Given the description of an element on the screen output the (x, y) to click on. 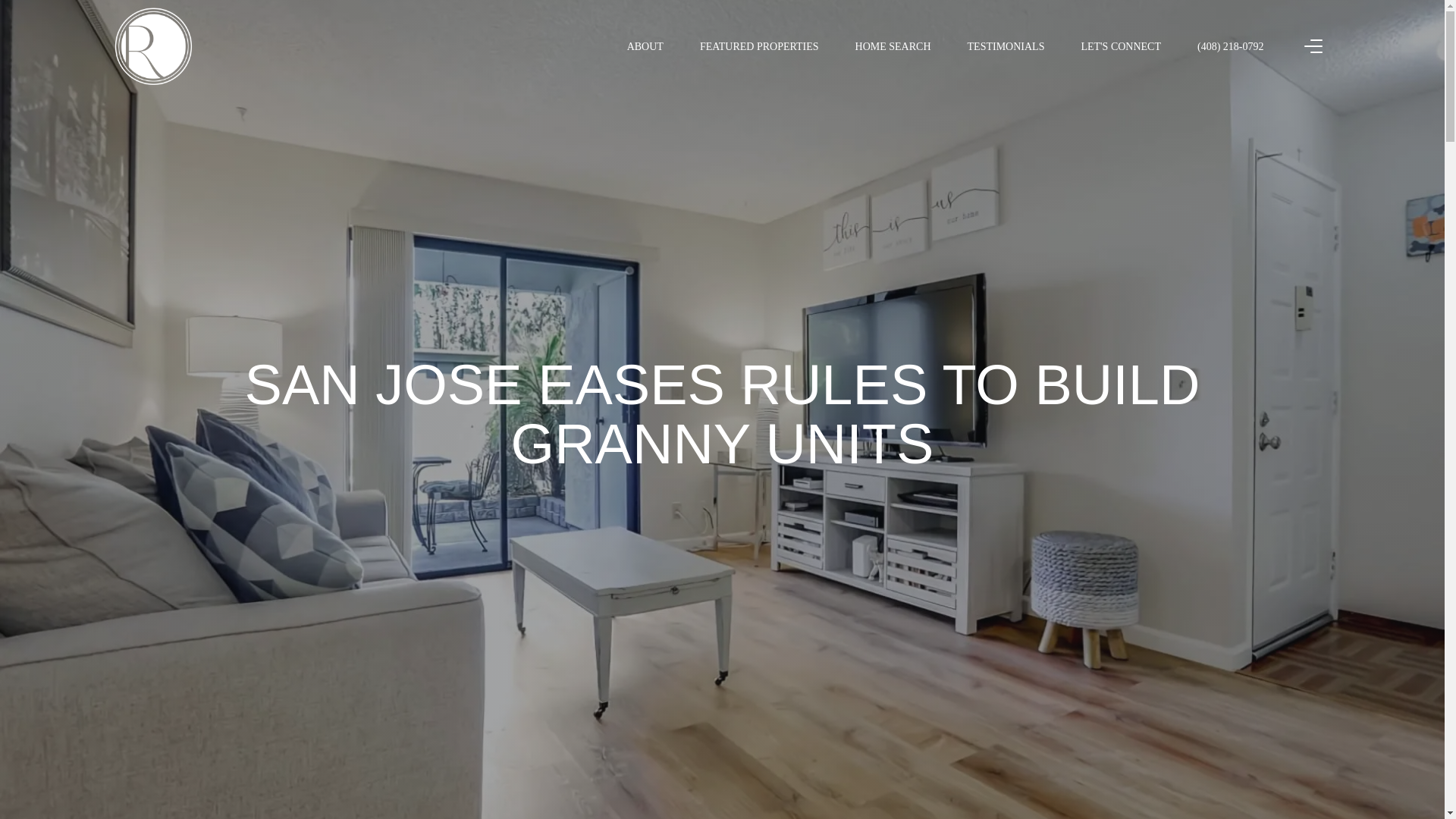
ABOUT (645, 46)
HOME SEARCH (893, 46)
FEATURED PROPERTIES (759, 46)
LET'S CONNECT (1120, 46)
TESTIMONIALS (1006, 46)
